Given the description of an element on the screen output the (x, y) to click on. 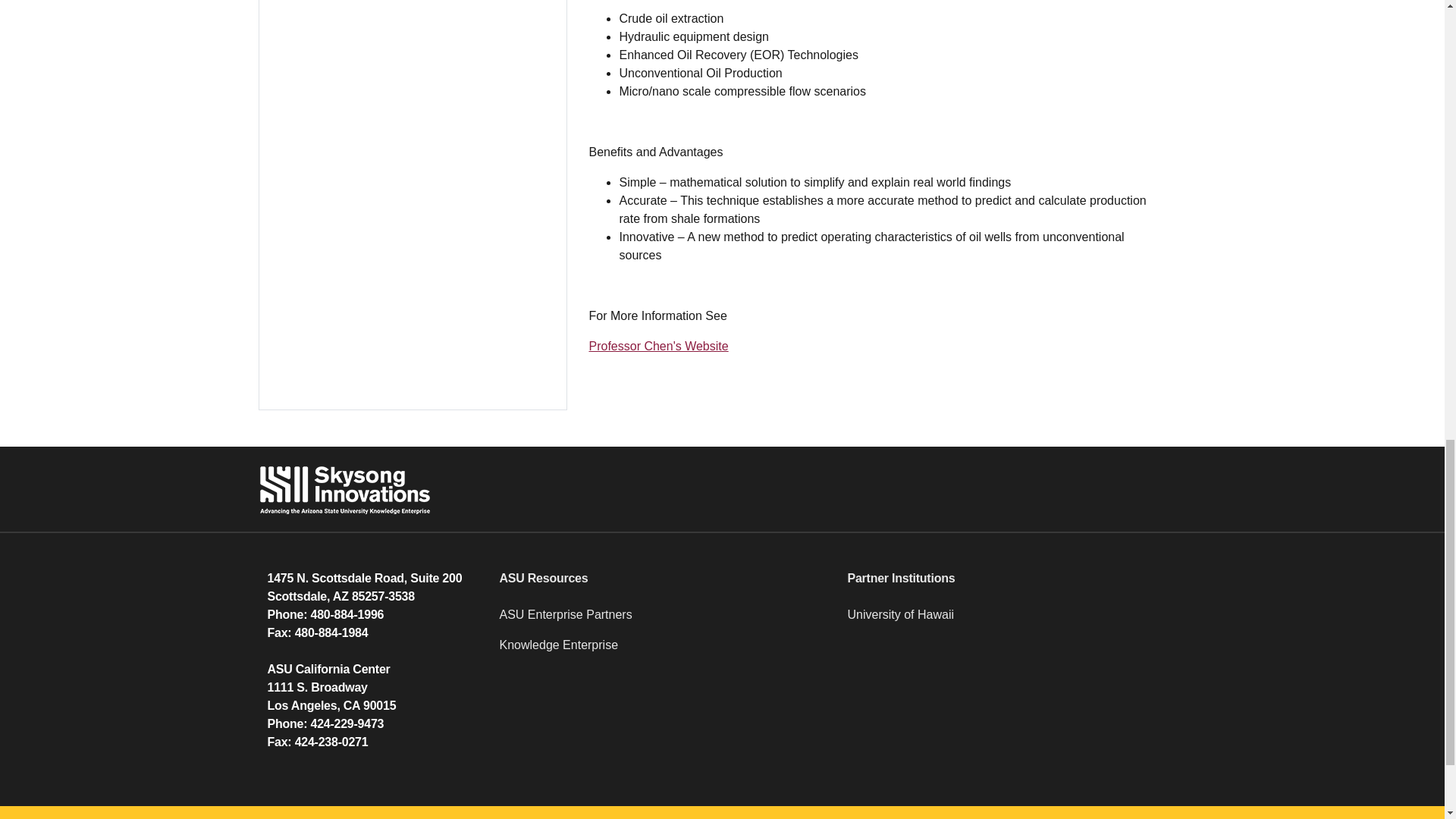
Partner Institutions (1012, 578)
ASU Enterprise Partners   (663, 621)
ASU Enterprise Partners (663, 621)
Knowledge Enterprise (663, 651)
University of Hawaii   (1012, 621)
University of Hawaii (1012, 621)
Professor Chen's Website (658, 345)
ASU Resources (663, 578)
Knowledge Enterprise   (663, 651)
